Given the description of an element on the screen output the (x, y) to click on. 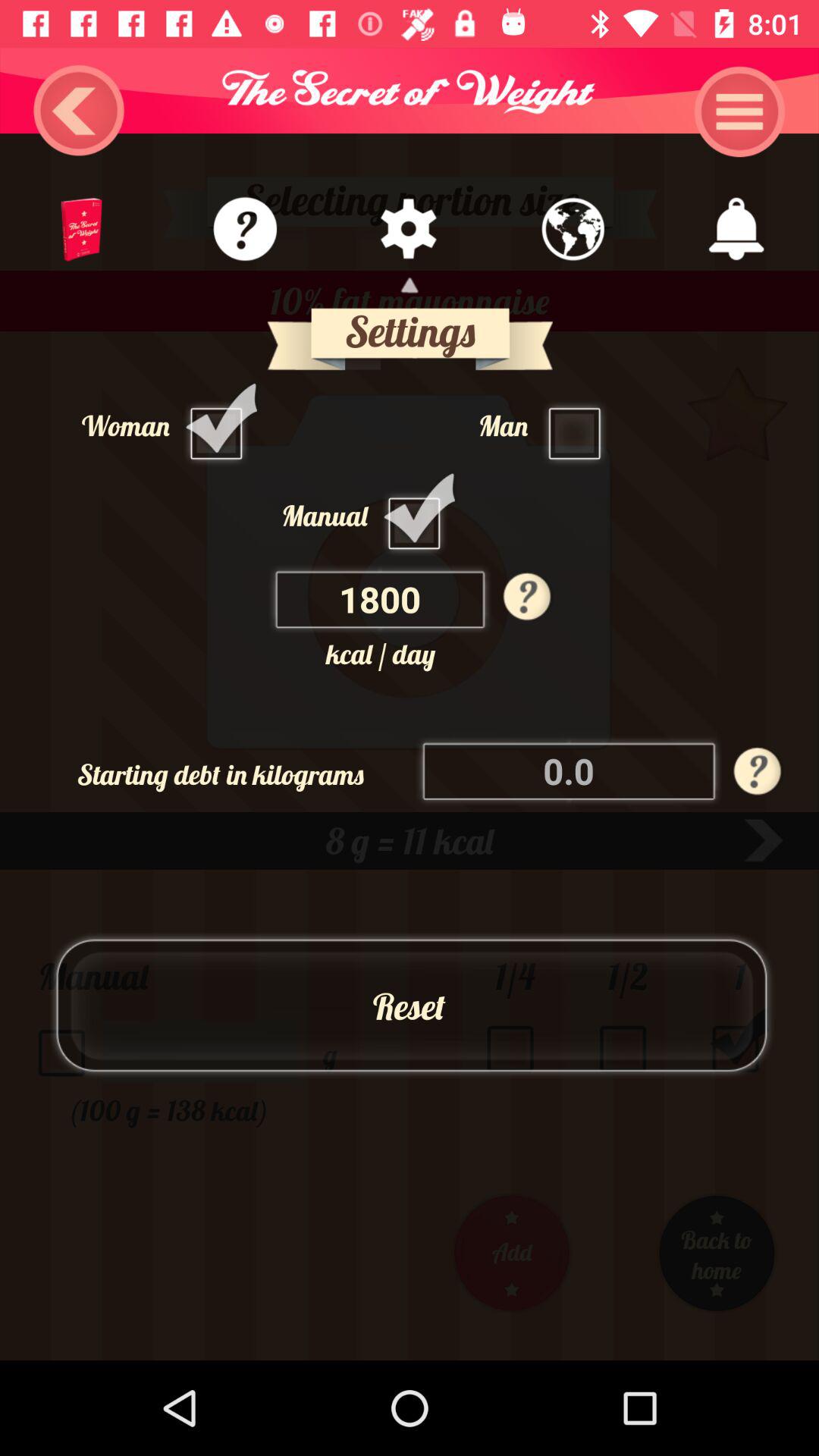
tick on button (418, 515)
